Given the description of an element on the screen output the (x, y) to click on. 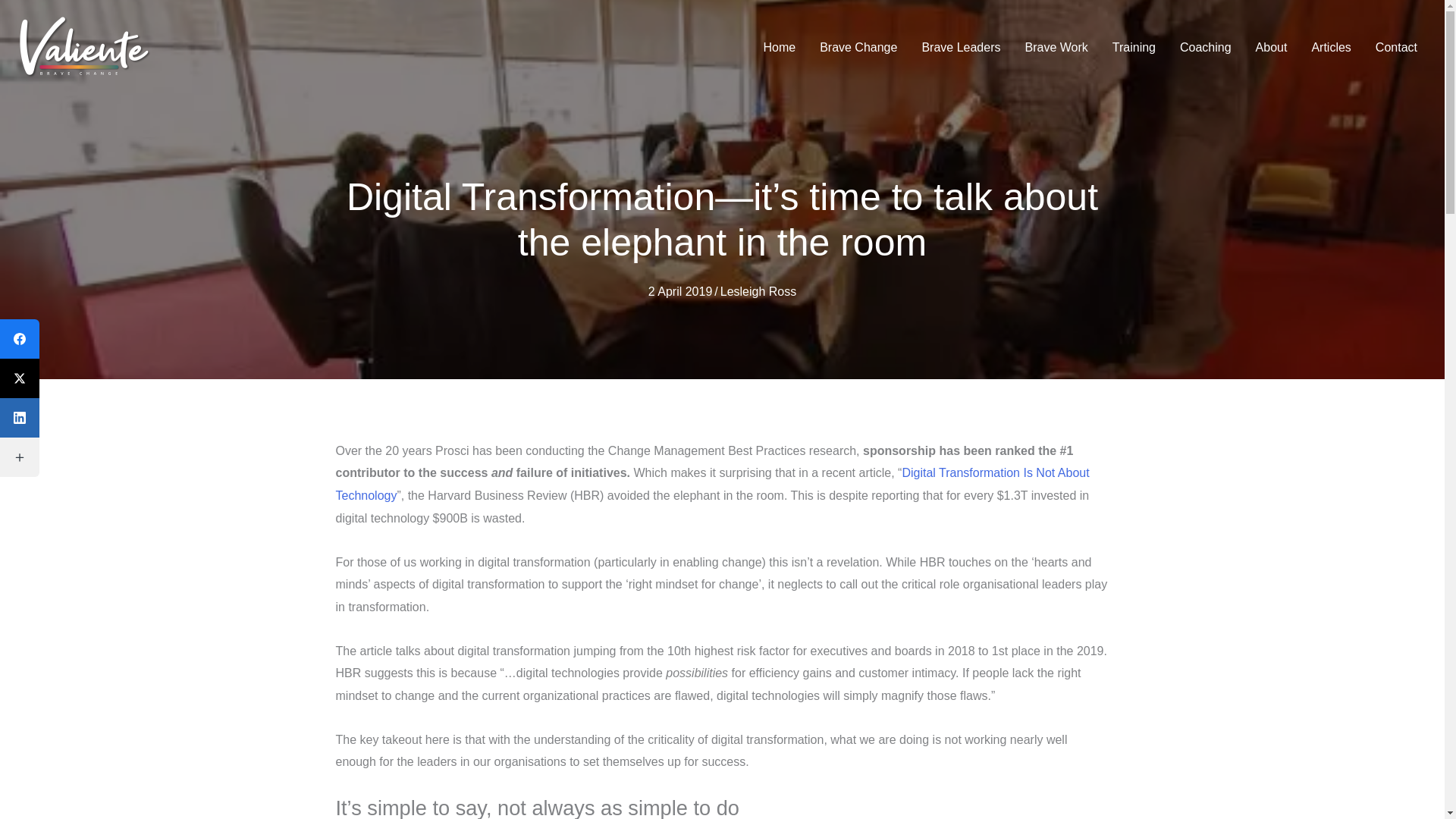
Contact (1395, 47)
Brave Leaders (959, 47)
About (1271, 47)
Articles (1330, 47)
Brave Change (858, 47)
Training (1133, 47)
Brave Work (1055, 47)
Coaching (1205, 47)
Home (779, 47)
